Given the description of an element on the screen output the (x, y) to click on. 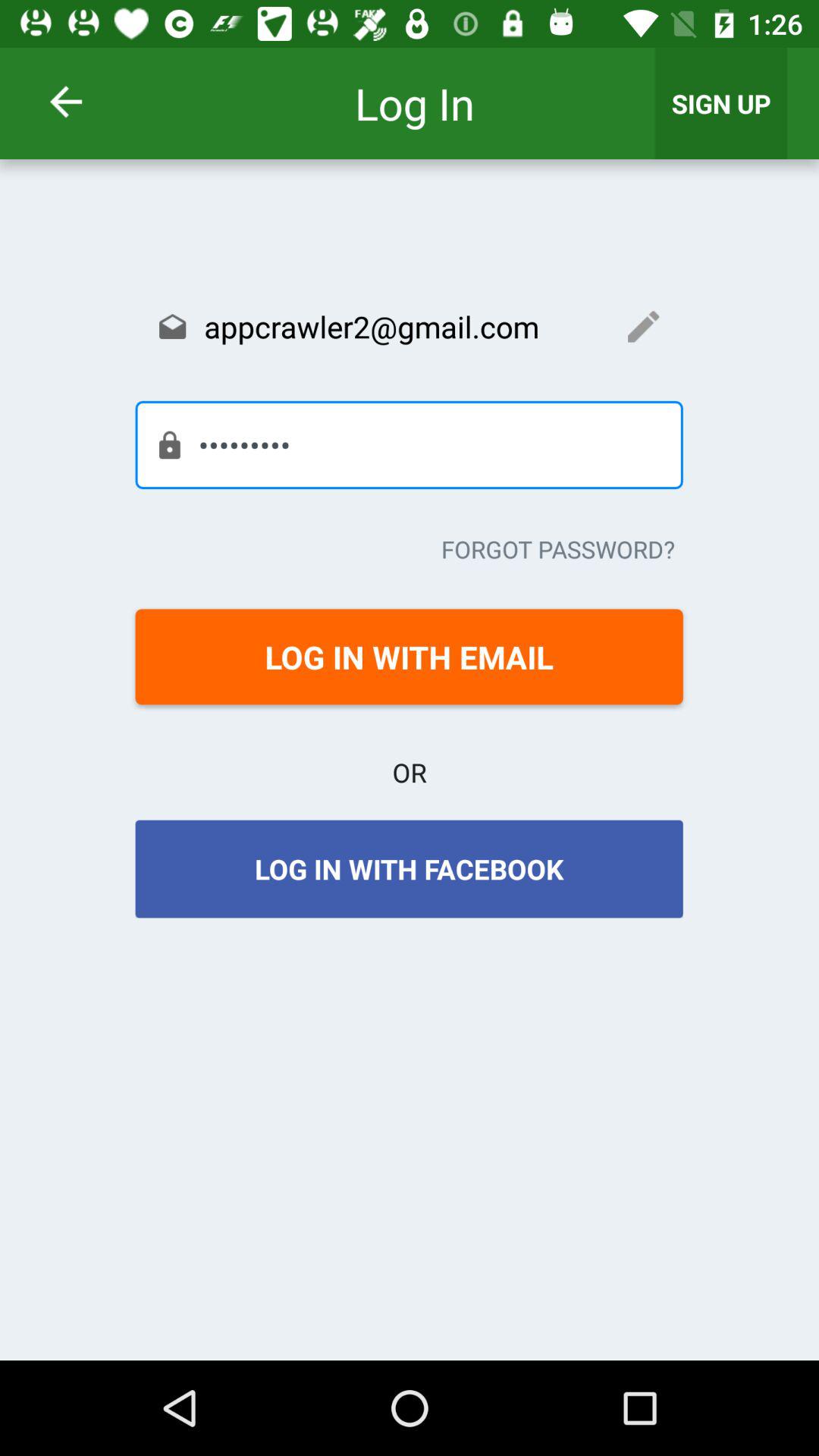
open the forgot password? on the right (558, 548)
